Given the description of an element on the screen output the (x, y) to click on. 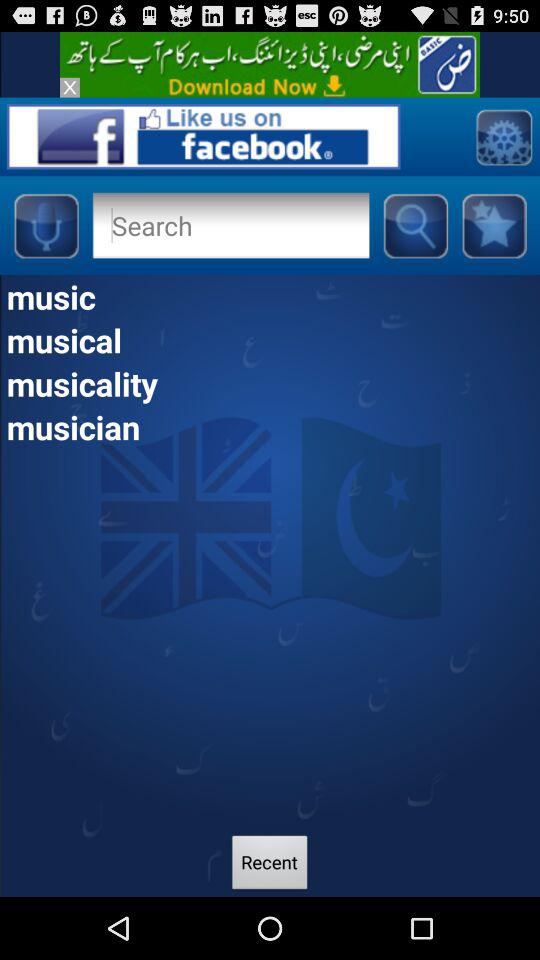
launch the app above the musicality item (270, 339)
